Given the description of an element on the screen output the (x, y) to click on. 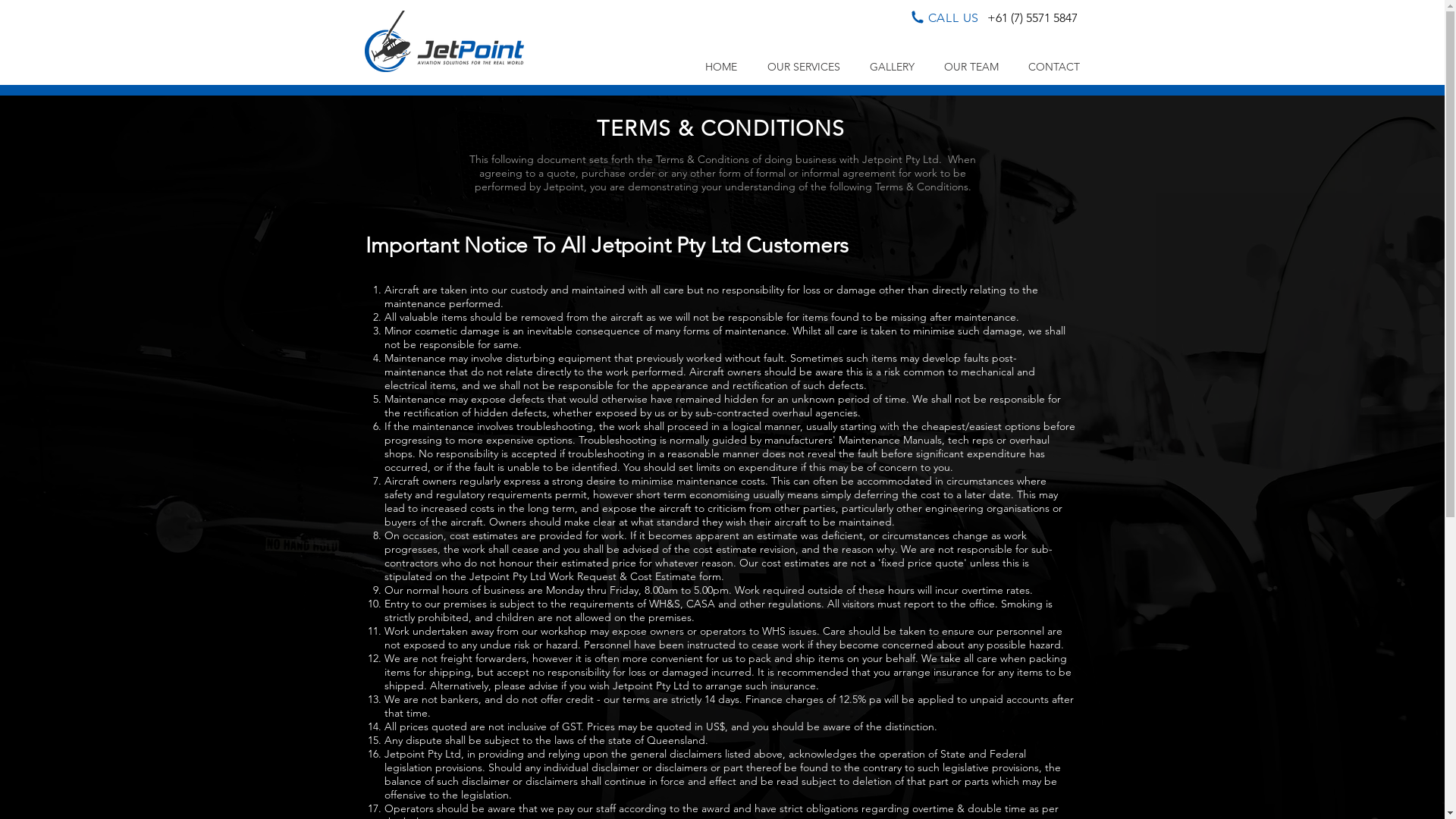
OUR SERVICES Element type: text (803, 66)
HOME Element type: text (721, 66)
CONTACT Element type: text (1053, 66)
GALLERY Element type: text (892, 66)
OUR TEAM Element type: text (971, 66)
+61 (7) 5571 5847 Element type: text (1032, 17)
